Given the description of an element on the screen output the (x, y) to click on. 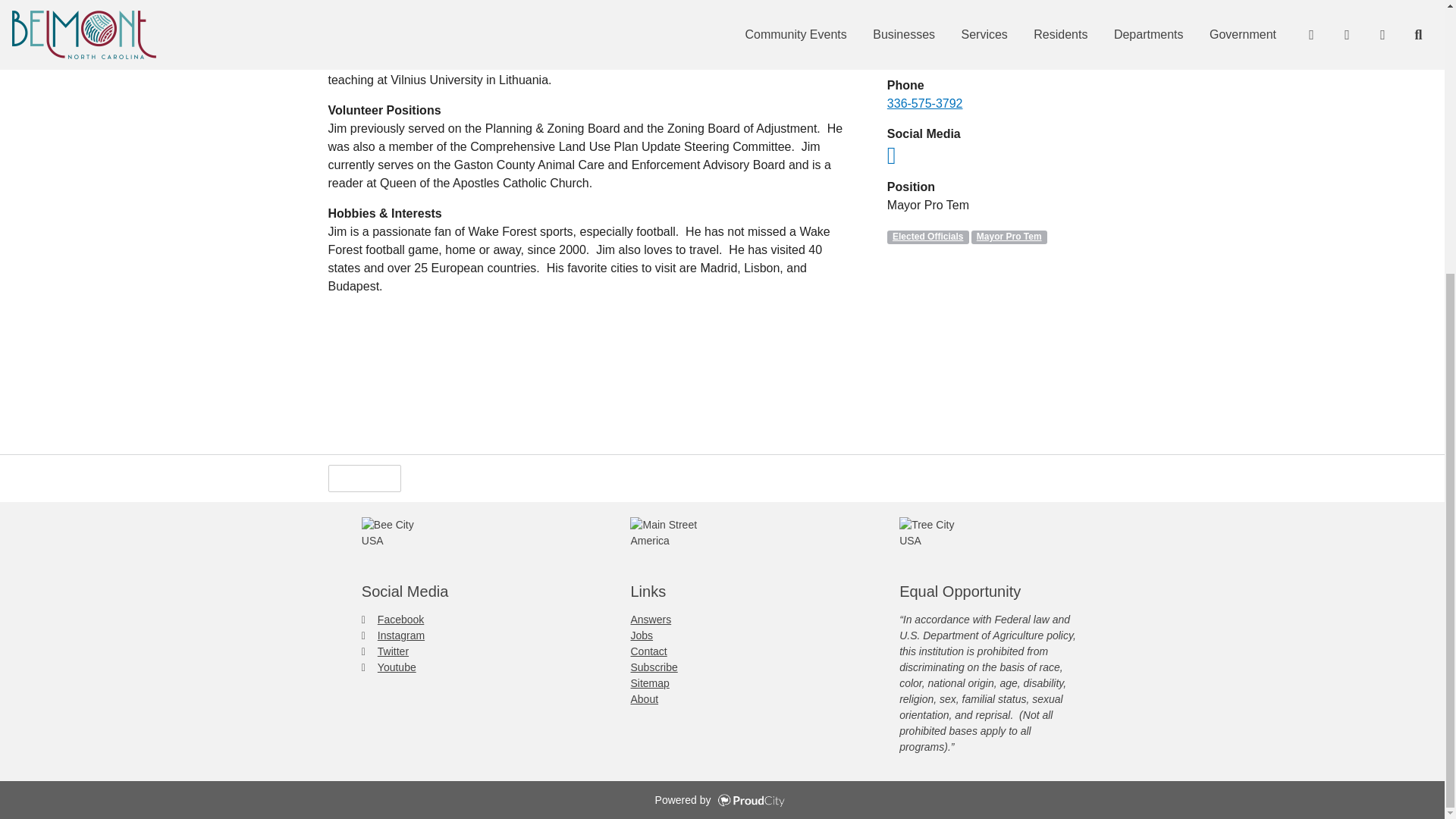
Helpful (364, 478)
Facebook (392, 619)
Size (504, 478)
Elected Officials (927, 237)
336-575-3792 (924, 103)
Instagram (393, 635)
This page makes me proud (364, 478)
Mayor Pro Tem (1008, 237)
Twitter (385, 651)
Share (436, 478)
